Given the description of an element on the screen output the (x, y) to click on. 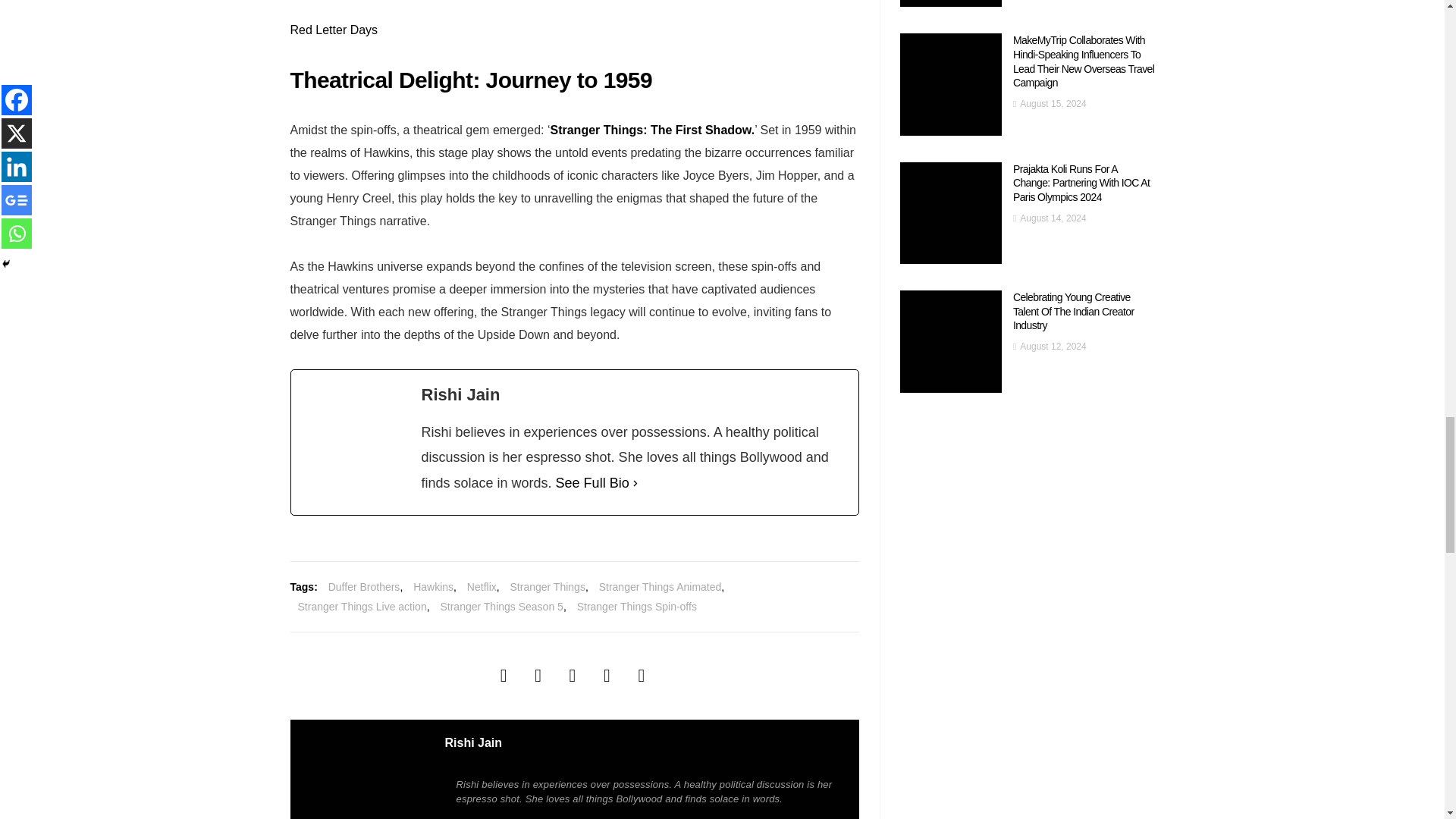
Stranger Things (548, 587)
Duffer Brothers (364, 587)
See Full Bio (592, 483)
Hawkins (432, 587)
Netflix (481, 587)
Red Letter Days (333, 29)
